Given the description of an element on the screen output the (x, y) to click on. 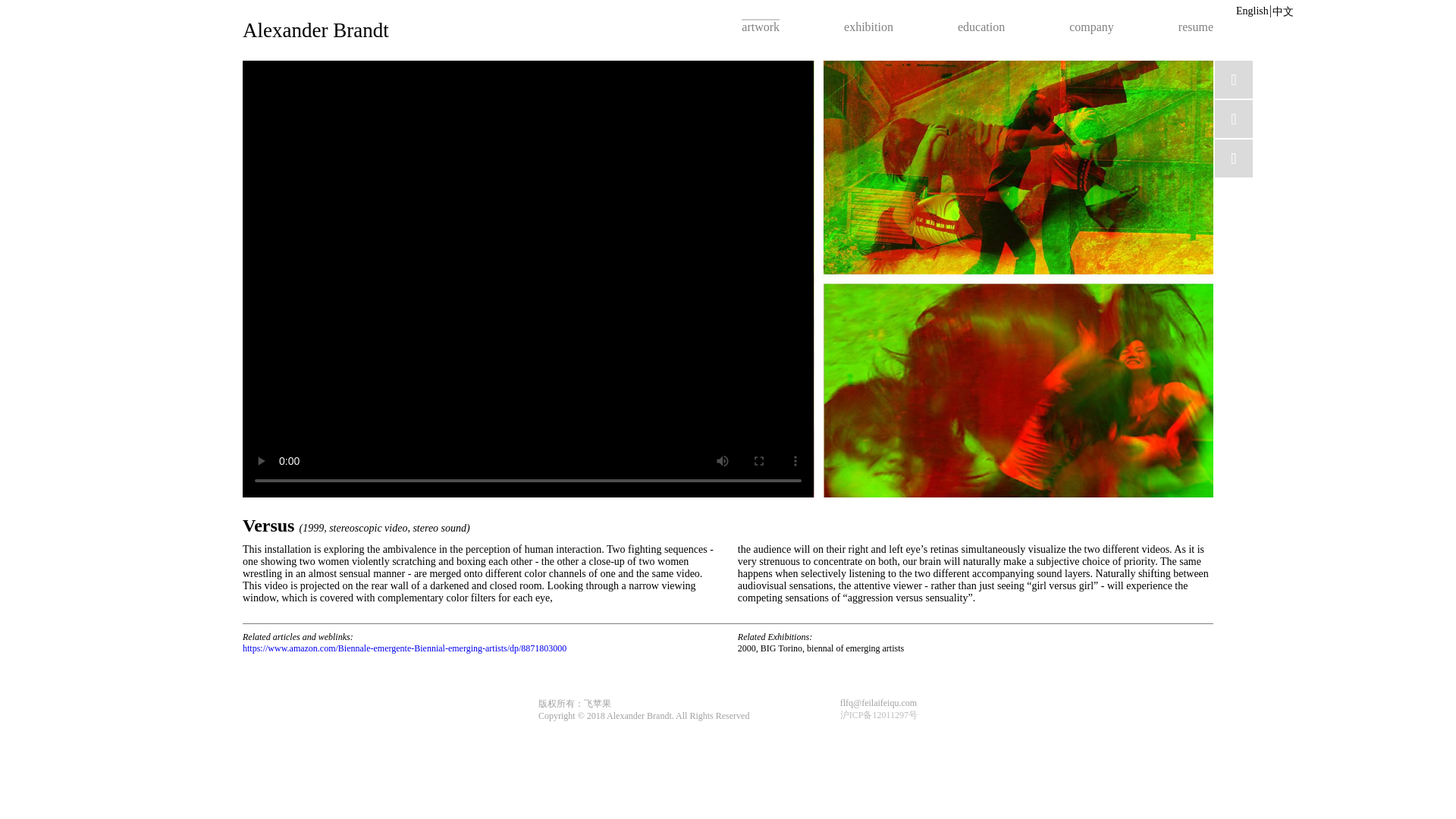
artwork (759, 26)
exhibition (868, 26)
English (1252, 11)
education (981, 26)
company (1090, 26)
resume (1194, 26)
Alexander Brandt (315, 30)
